Given the description of an element on the screen output the (x, y) to click on. 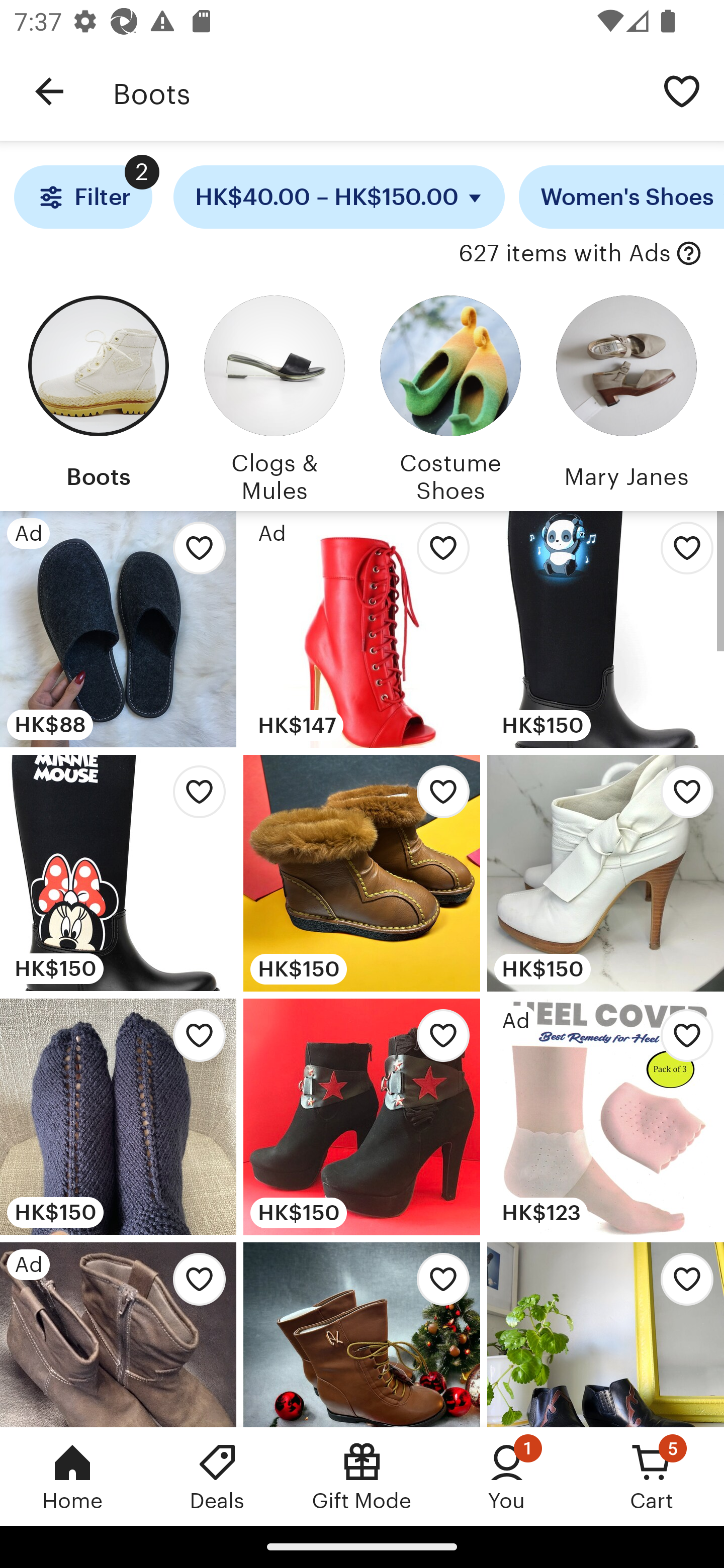
Navigate up (49, 91)
Save search (681, 90)
Boots (375, 91)
Filter (82, 197)
HK$40.00 – HK$150.00 (338, 197)
Women's Shoes (621, 197)
627 items with Ads (564, 253)
with Ads (688, 253)
Boots (97, 395)
Clogs & Mules (273, 395)
Costume Shoes (449, 395)
Mary Janes (625, 395)
Add Katrina Peep Toe-Red to favorites (438, 553)
Add White Ankle boot with bow to favorites (681, 796)
Add knitted ankle length booties to favorites (194, 1040)
Deals (216, 1475)
Gift Mode (361, 1475)
You, 1 new notification You (506, 1475)
Cart, 5 new notifications Cart (651, 1475)
